Given the description of an element on the screen output the (x, y) to click on. 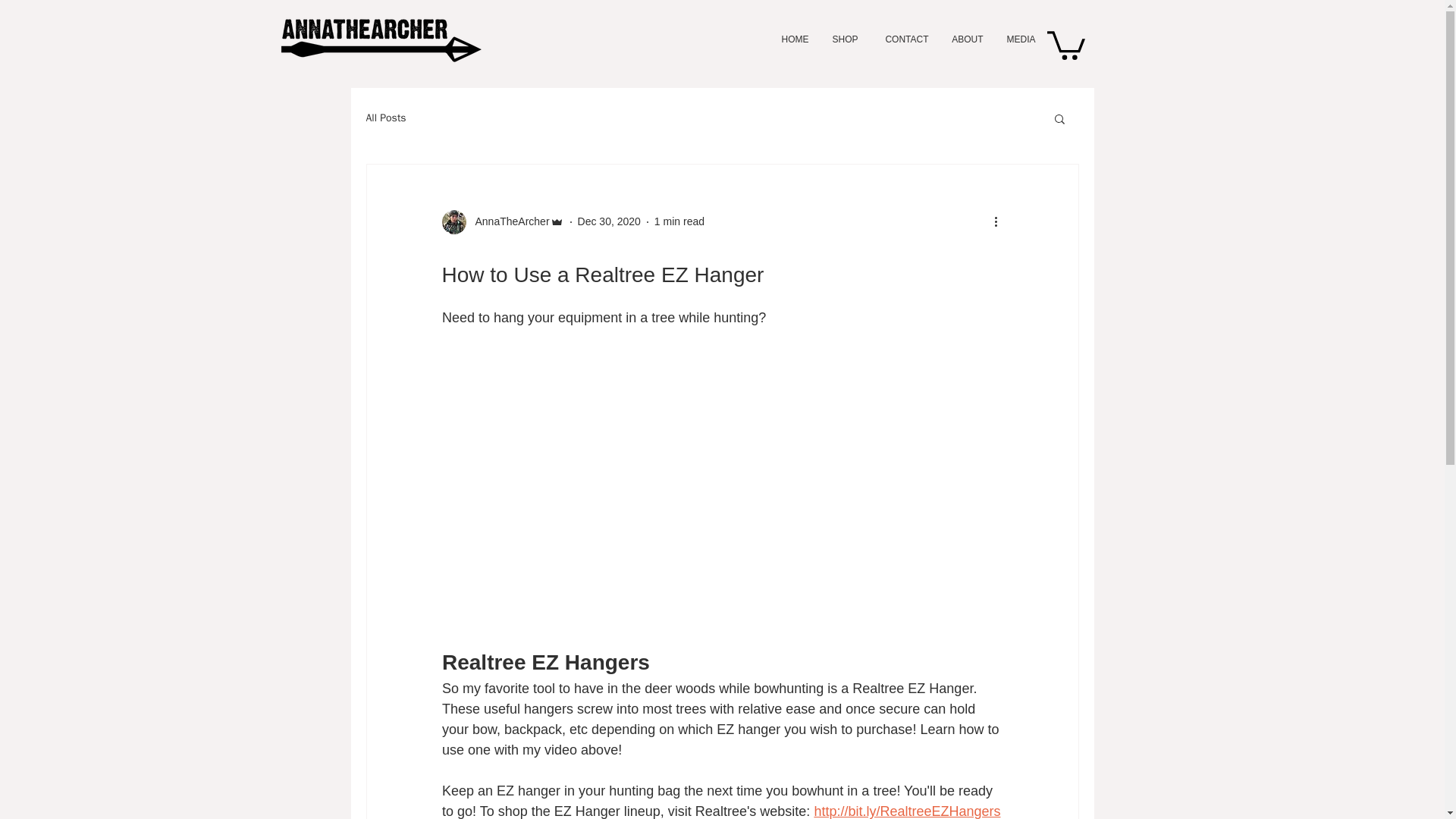
All Posts (385, 118)
1 min read (678, 221)
CONTACT (904, 39)
MEDIA (1020, 39)
HOME (793, 39)
AnnaTheArcher (506, 221)
SHOP (845, 39)
Dec 30, 2020 (609, 221)
ABOUT (967, 39)
AnnaTheArcher (502, 221)
